Given the description of an element on the screen output the (x, y) to click on. 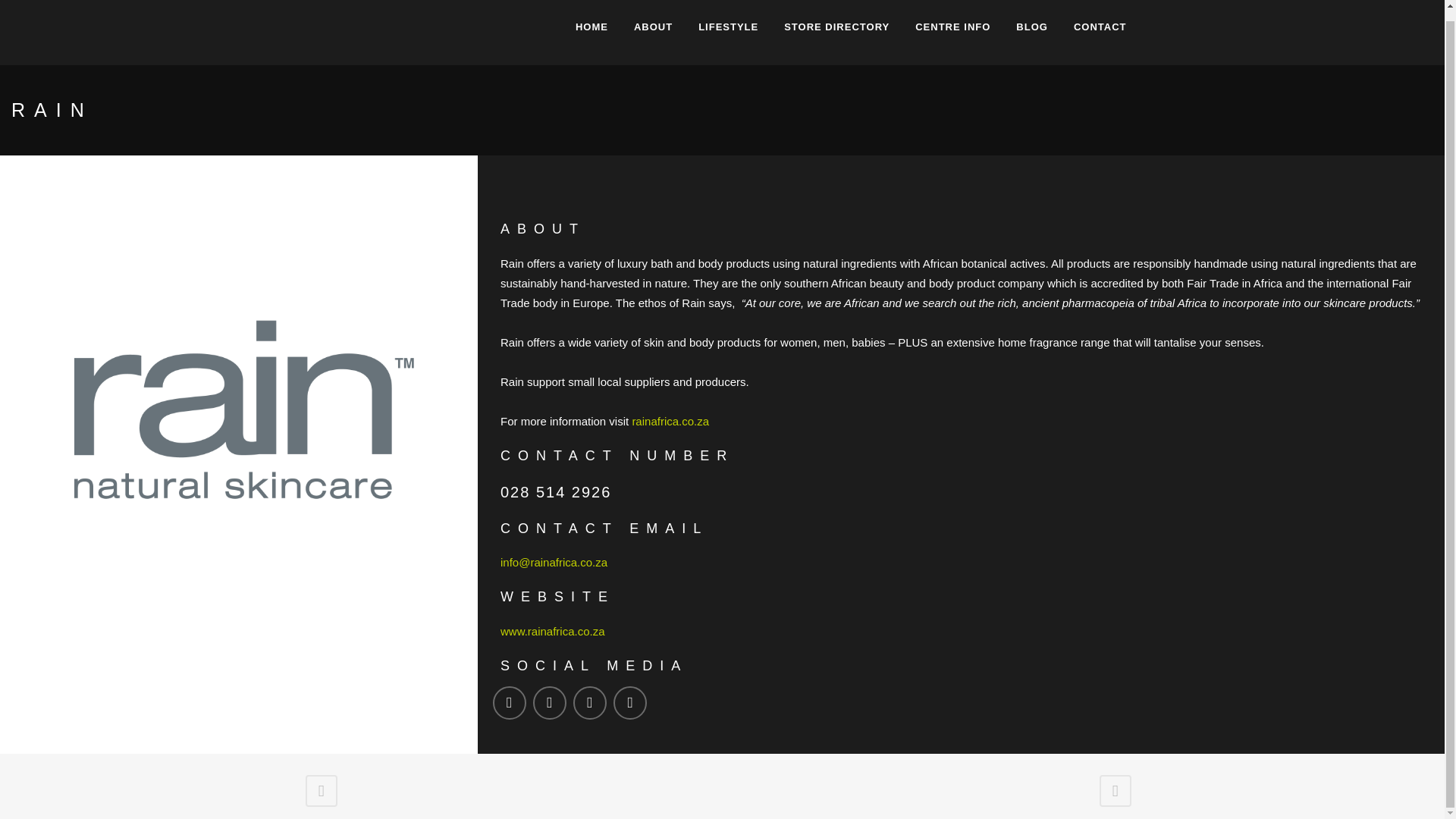
www.rainafrica.co.za (552, 631)
CENTRE INFO (952, 32)
ABOUT (653, 32)
STORE DIRECTORY (836, 32)
LIFESTYLE (728, 32)
CONTACT (1100, 32)
rainafrica.co.za (670, 420)
HOME (591, 32)
